Given the description of an element on the screen output the (x, y) to click on. 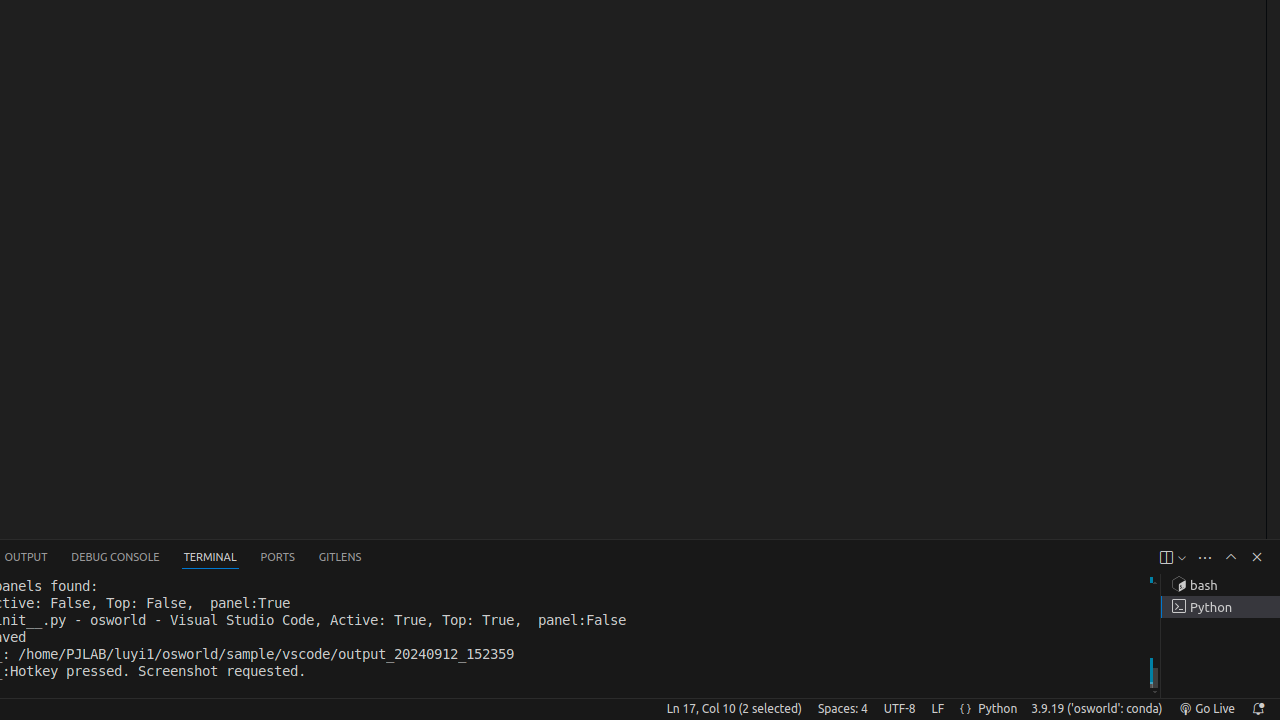
Terminal 1 bash Element type: list-item (1220, 585)
Python Element type: push-button (998, 709)
Ln 17, Col 10 (2 selected) Element type: push-button (734, 709)
Terminal 5 Python Element type: list-item (1220, 607)
Views and More Actions... Element type: push-button (1205, 557)
